Given the description of an element on the screen output the (x, y) to click on. 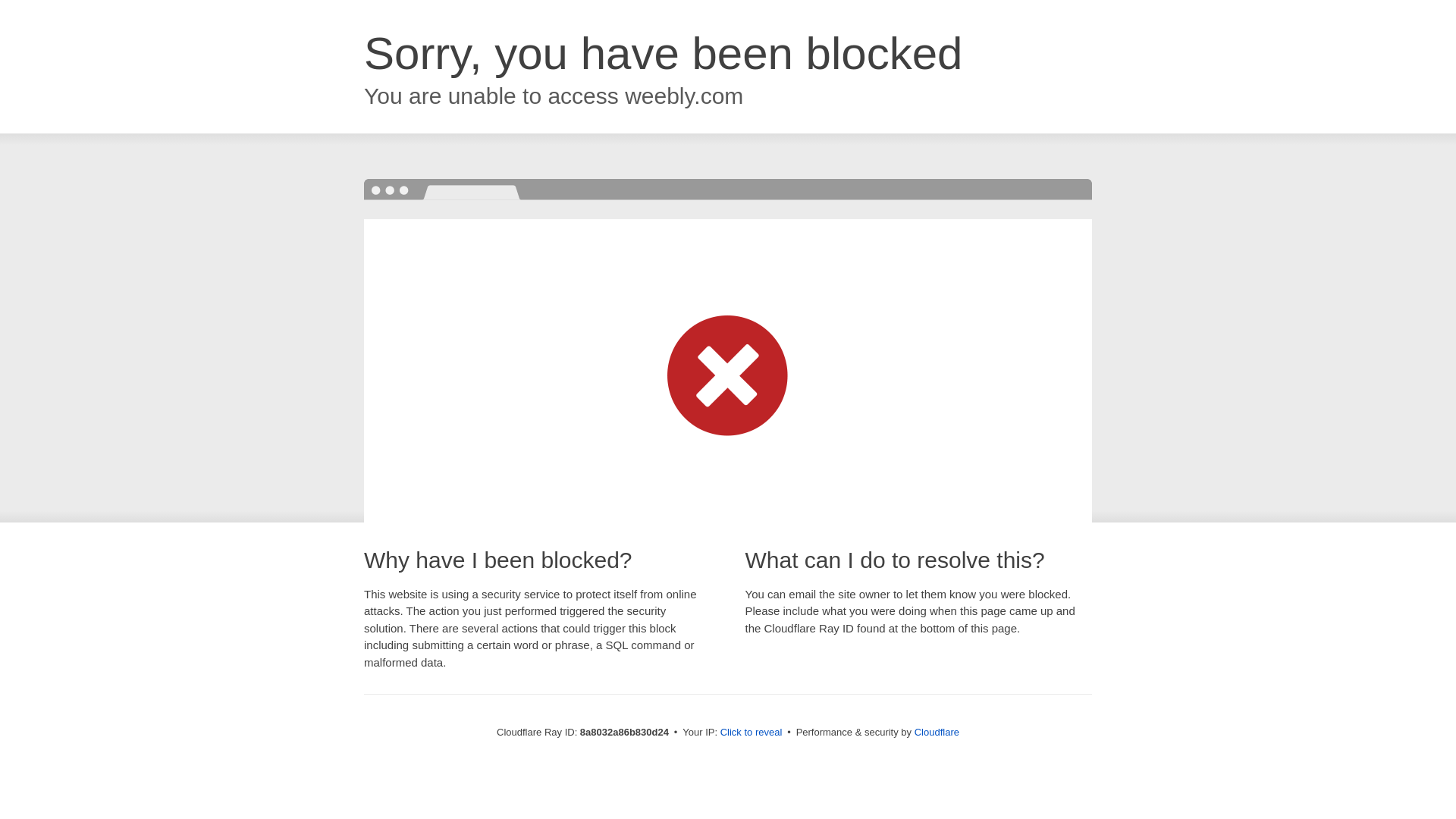
Click to reveal (751, 732)
Cloudflare (936, 731)
